Given the description of an element on the screen output the (x, y) to click on. 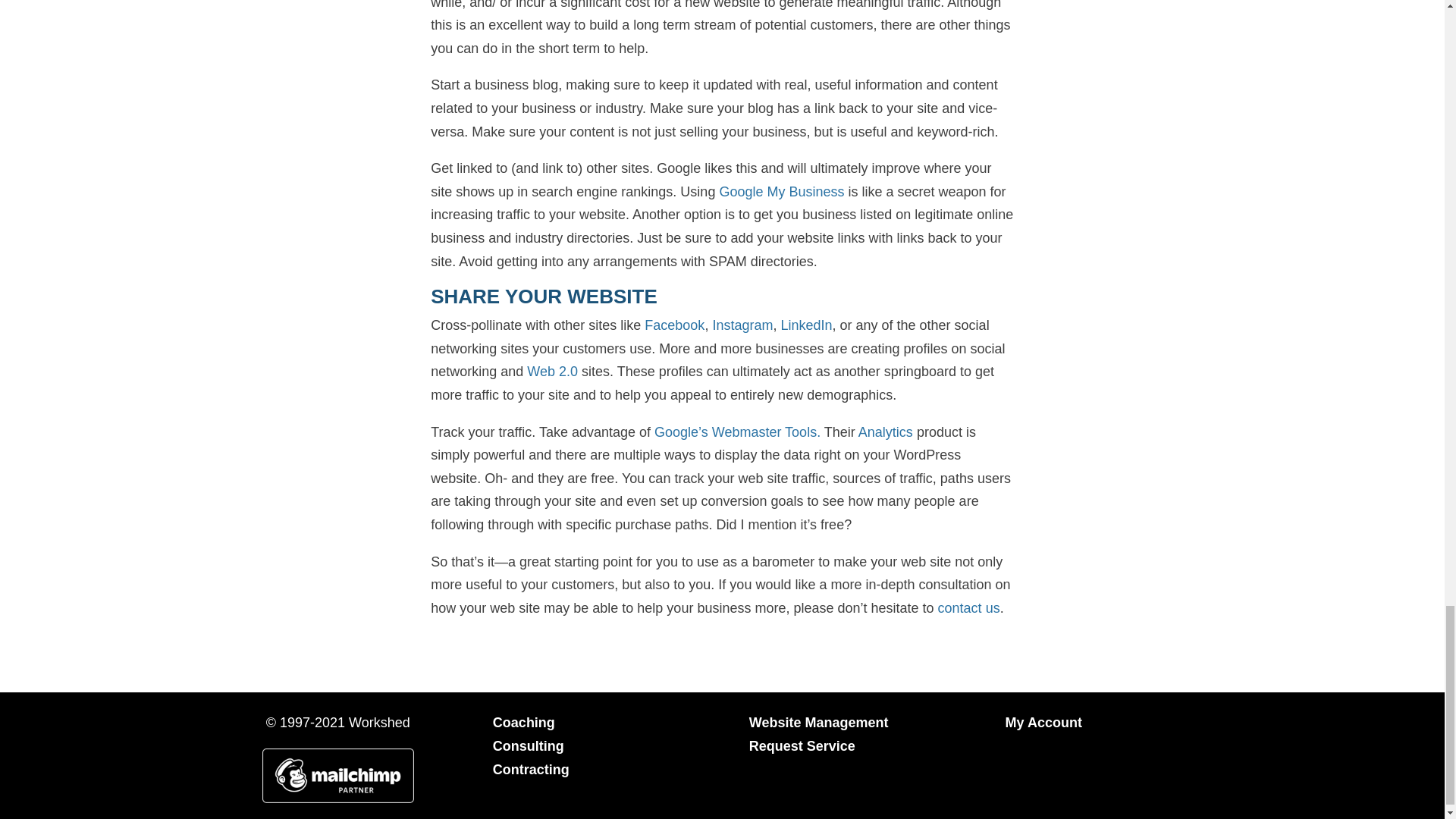
contact (959, 607)
Facebook (674, 324)
Request Service (802, 745)
Website Management (818, 722)
Google My Business (781, 191)
My Account (1043, 722)
Consulting (528, 745)
Contracting (531, 769)
Coaching (523, 722)
LinkedIn (805, 324)
